Given the description of an element on the screen output the (x, y) to click on. 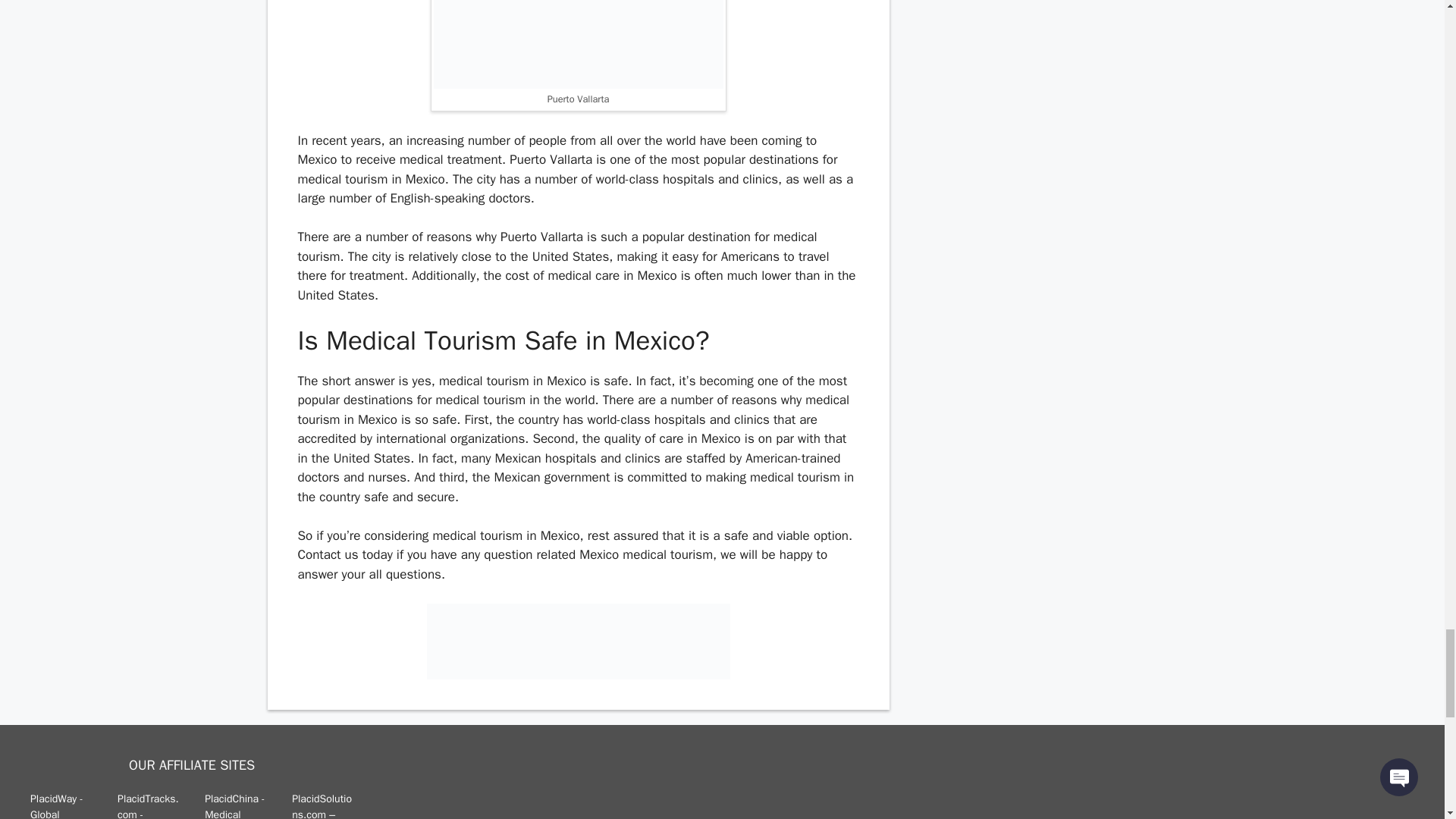
Contact-Us-15 (577, 641)
Puerto Vallarta (578, 44)
